Given the description of an element on the screen output the (x, y) to click on. 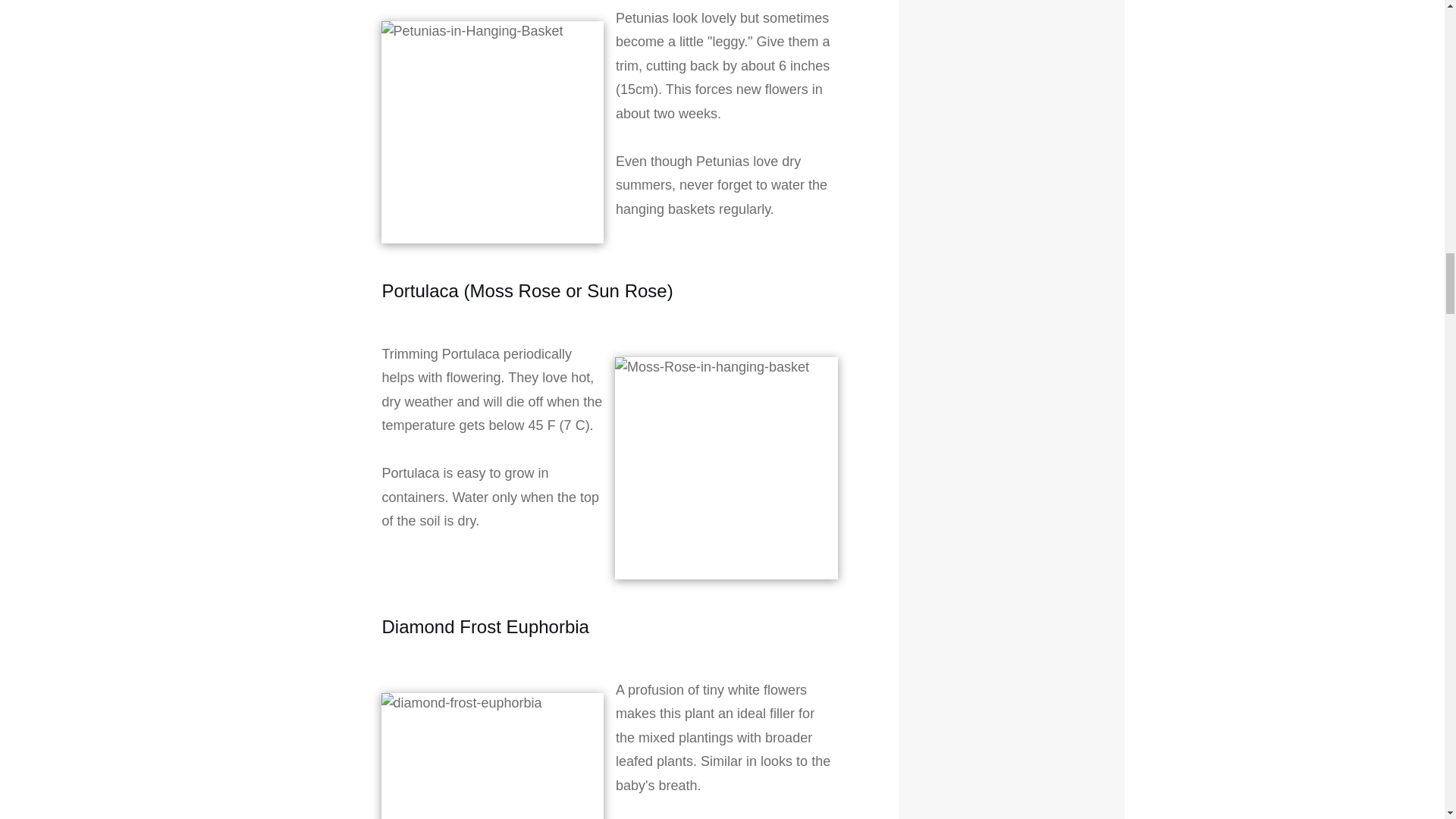
Moss-Rose-in-hanging-basket (726, 468)
Petunias-in-Hanging-Basket (492, 132)
diamond-frost-euphorbia (492, 755)
